Given the description of an element on the screen output the (x, y) to click on. 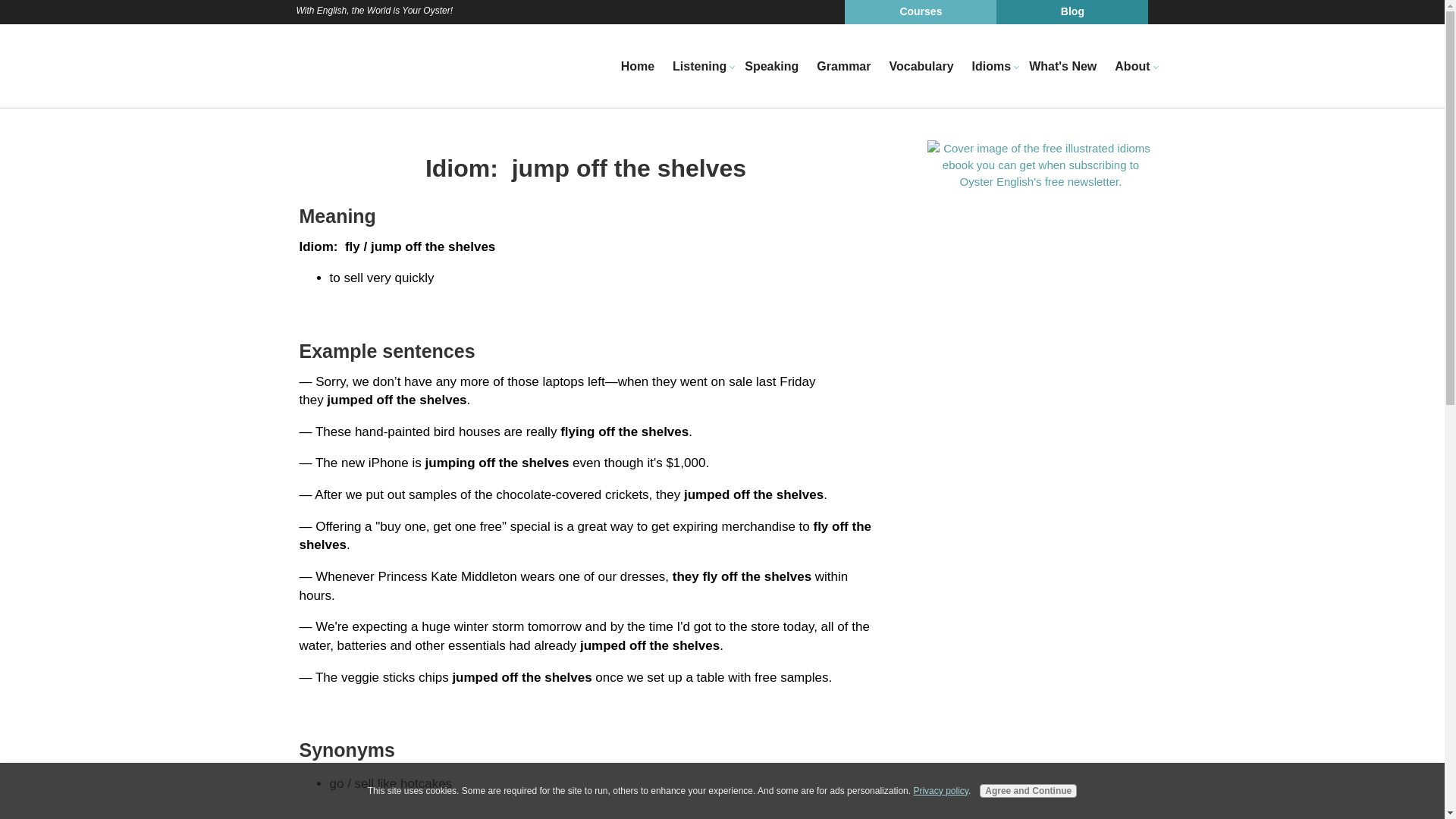
Courses (919, 12)
Blog (1071, 12)
Go to Signup and receive a free idioms ebook (1040, 180)
Vocabulary (920, 66)
Subscribe to our newsletter (1040, 164)
Privacy policy (940, 790)
Grammar (843, 66)
OYSTERENGLISH.COM (360, 65)
Agree and Continue (1028, 790)
Home (637, 66)
Speaking (771, 66)
What's New (1062, 66)
